Given the description of an element on the screen output the (x, y) to click on. 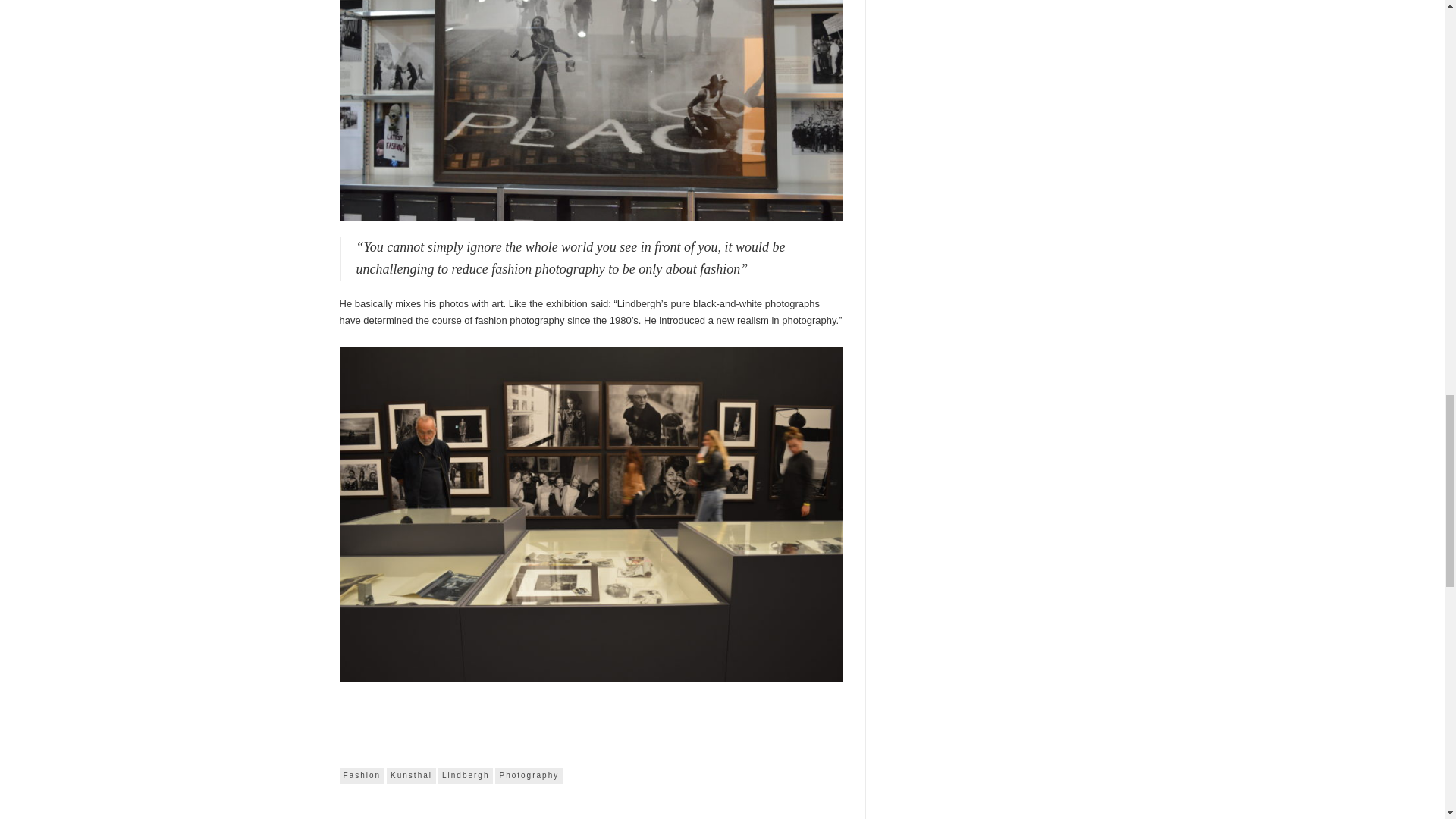
Photography (528, 775)
Lindbergh (465, 775)
Kunsthal (411, 775)
Fashion (362, 775)
